Given the description of an element on the screen output the (x, y) to click on. 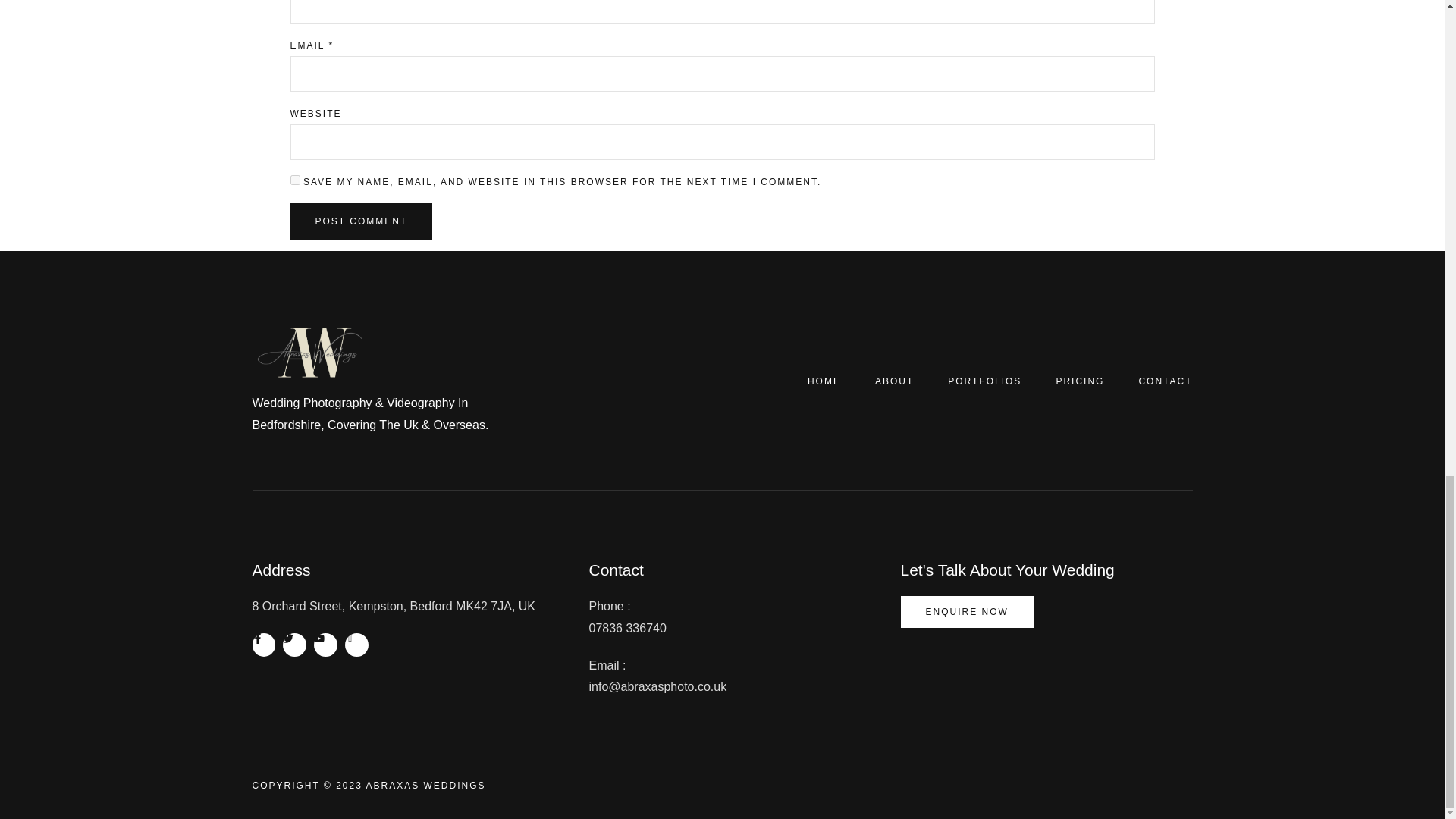
Post Comment (360, 221)
yes (294, 180)
Post Comment (360, 221)
